Given the description of an element on the screen output the (x, y) to click on. 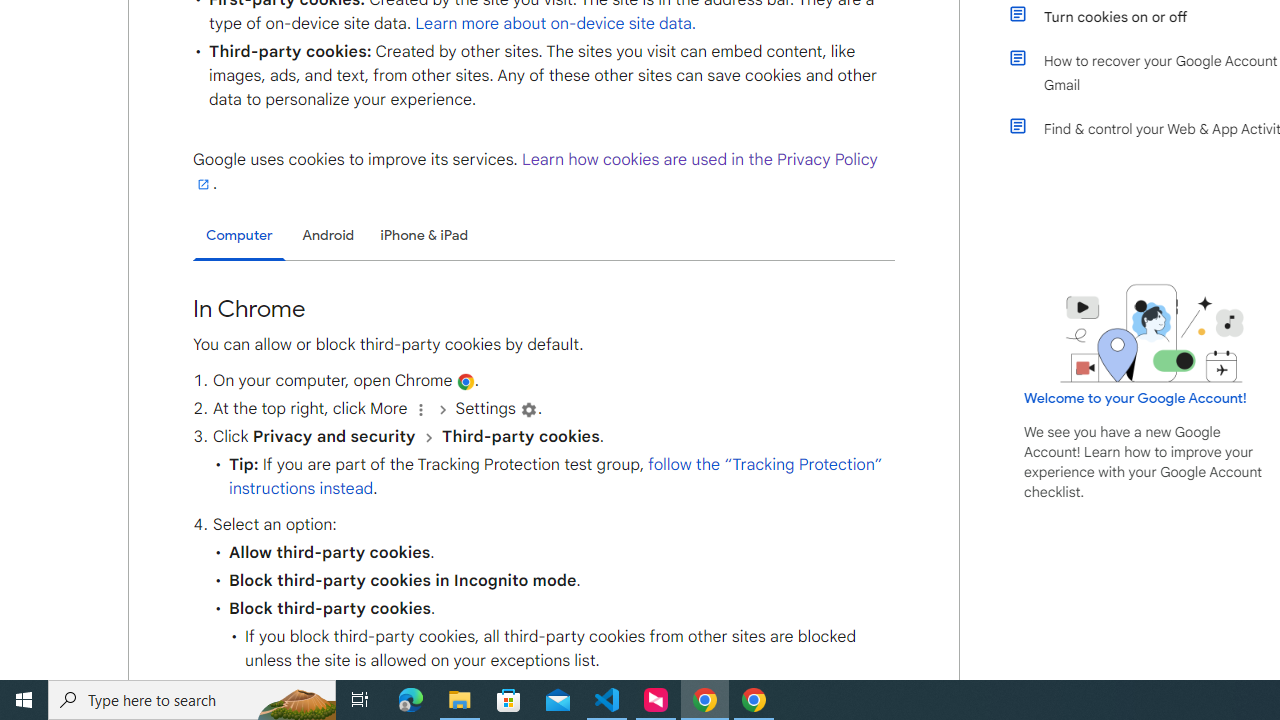
Learning Center home page image (1152, 333)
Learn how cookies are used in the Privacy Policy (535, 171)
iPhone & iPad (424, 235)
Welcome to your Google Account! (1135, 397)
More (420, 409)
Computer (239, 235)
and then (427, 437)
Learn more about on-device site data. (555, 23)
Android (328, 235)
